Given the description of an element on the screen output the (x, y) to click on. 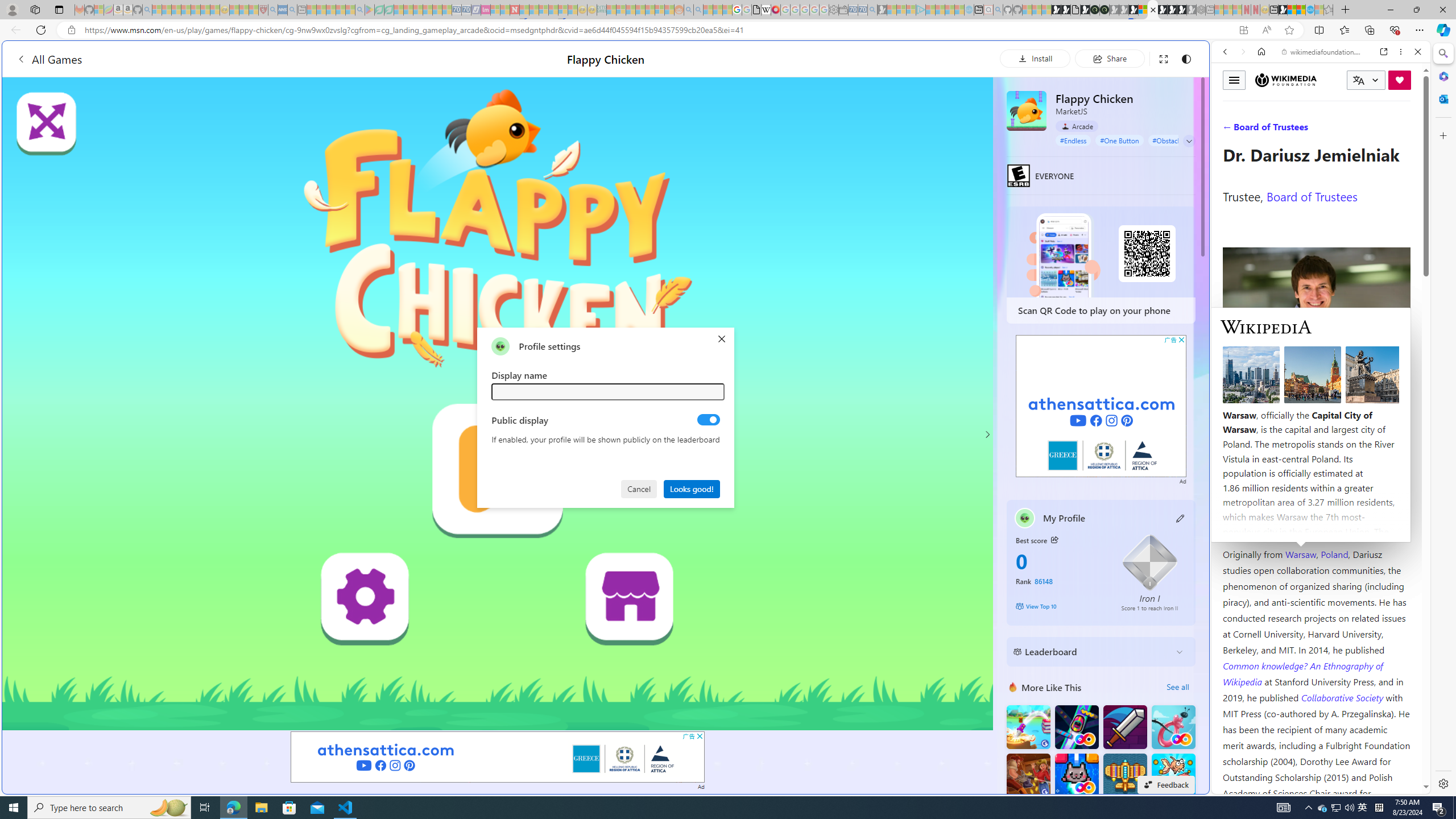
Cancel (639, 488)
Cheap Hotels - Save70.com - Sleeping (466, 9)
Close tab (1152, 9)
See all (1177, 687)
View site information (70, 29)
14 Common Myths Debunked By Scientific Facts - Sleeping (533, 9)
All Games (49, 58)
World - MSN (727, 389)
Search (1442, 53)
Address and search bar (658, 29)
